Given the description of an element on the screen output the (x, y) to click on. 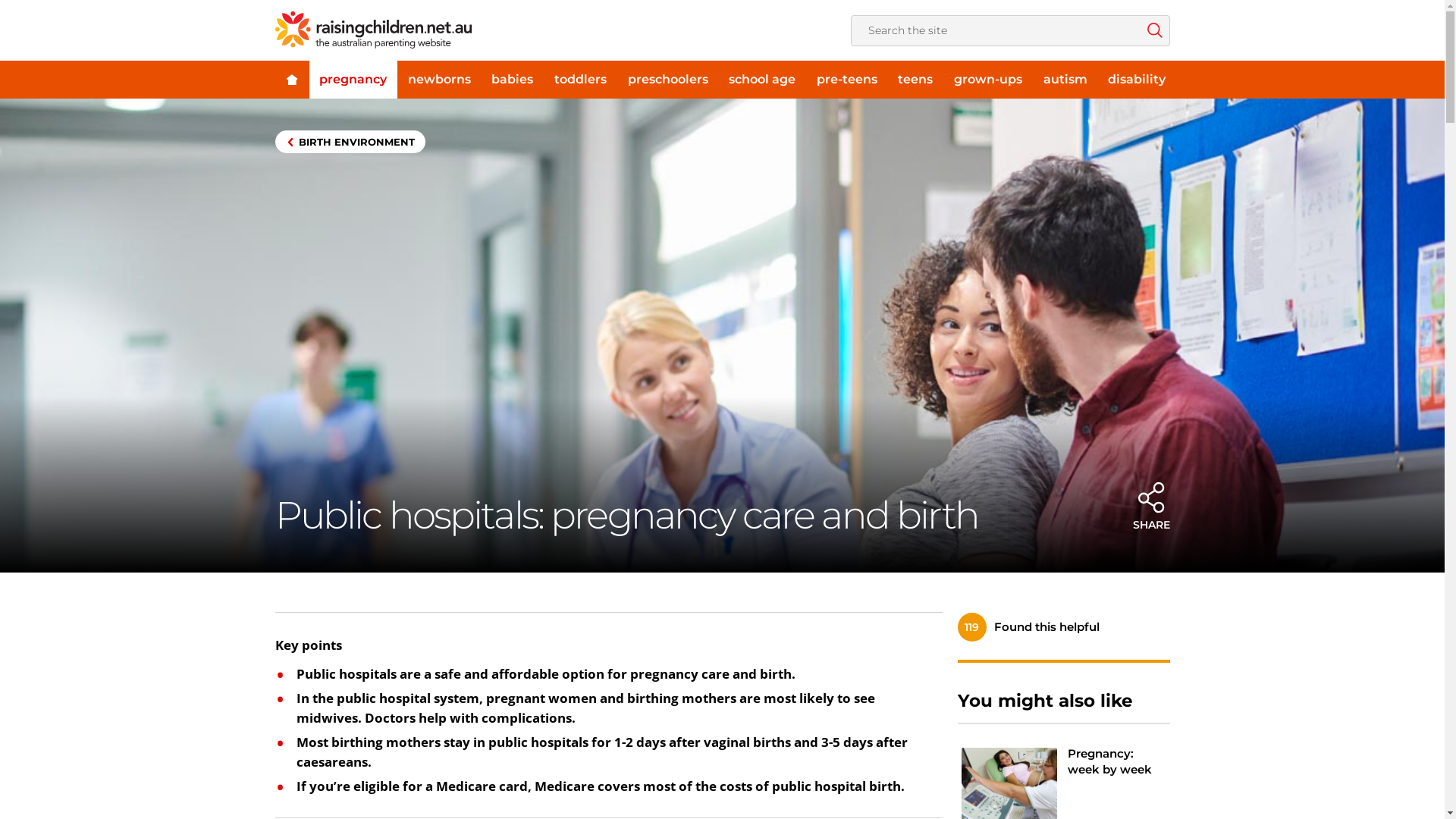
babies Element type: text (512, 79)
SHARE Element type: text (1151, 505)
Search Element type: text (1154, 30)
disability Element type: text (1136, 79)
pregnancy Element type: text (353, 79)
school age Element type: text (762, 79)
BIRTH ENVIRONMENT Element type: text (349, 141)
teens Element type: text (916, 79)
Link to Raising Children Network homepage Element type: hover (291, 79)
toddlers Element type: text (580, 79)
preschoolers Element type: text (667, 79)
Raising Children Network Element type: hover (372, 30)
newborns Element type: text (439, 79)
grown-ups Element type: text (987, 79)
pre-teens Element type: text (847, 79)
autism Element type: text (1065, 79)
